Given the description of an element on the screen output the (x, y) to click on. 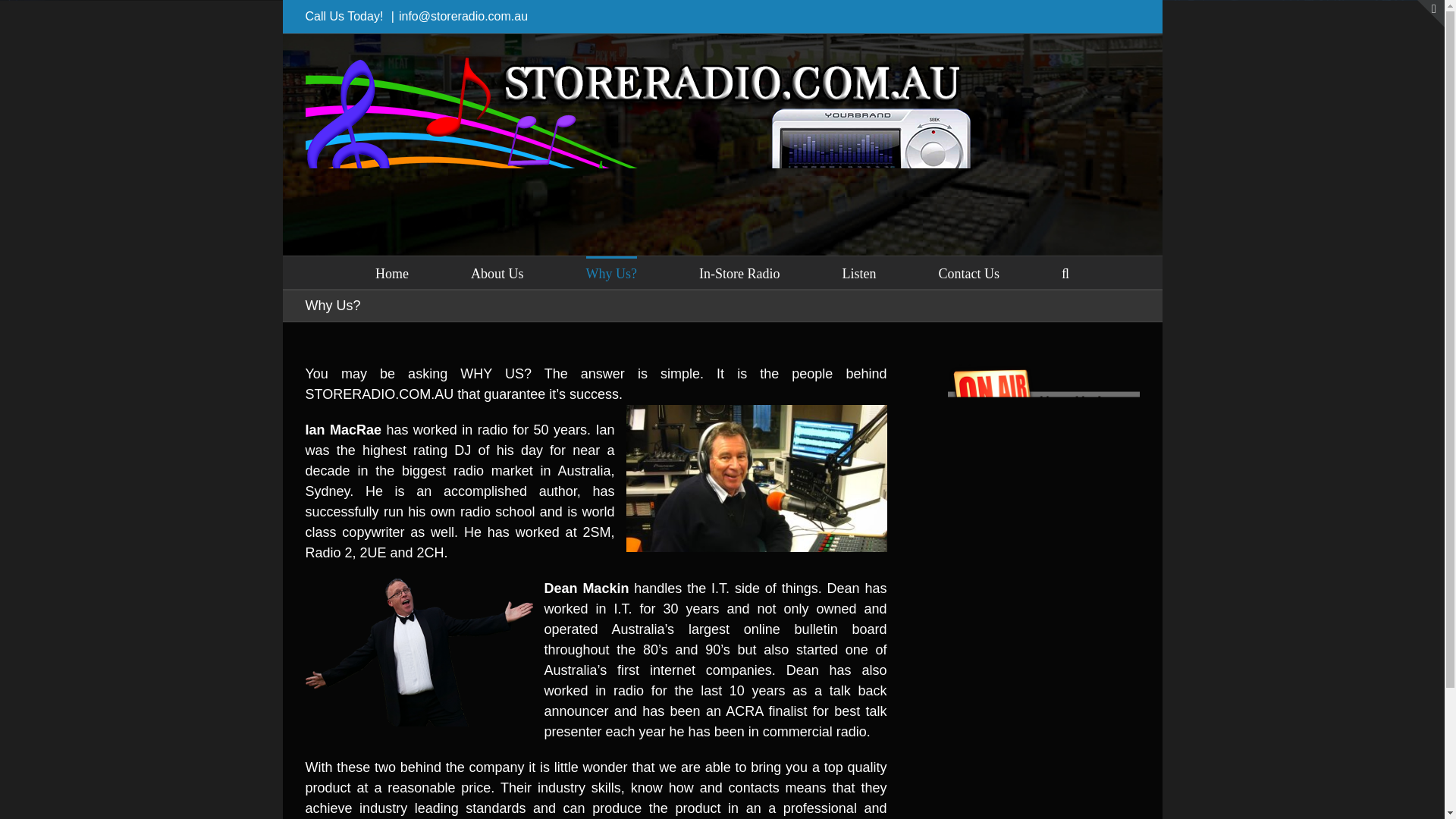
About Us (497, 272)
Listen (858, 272)
In-Store Radio (738, 272)
Home (392, 272)
Why Us? (611, 272)
Contact Us (967, 272)
